Given the description of an element on the screen output the (x, y) to click on. 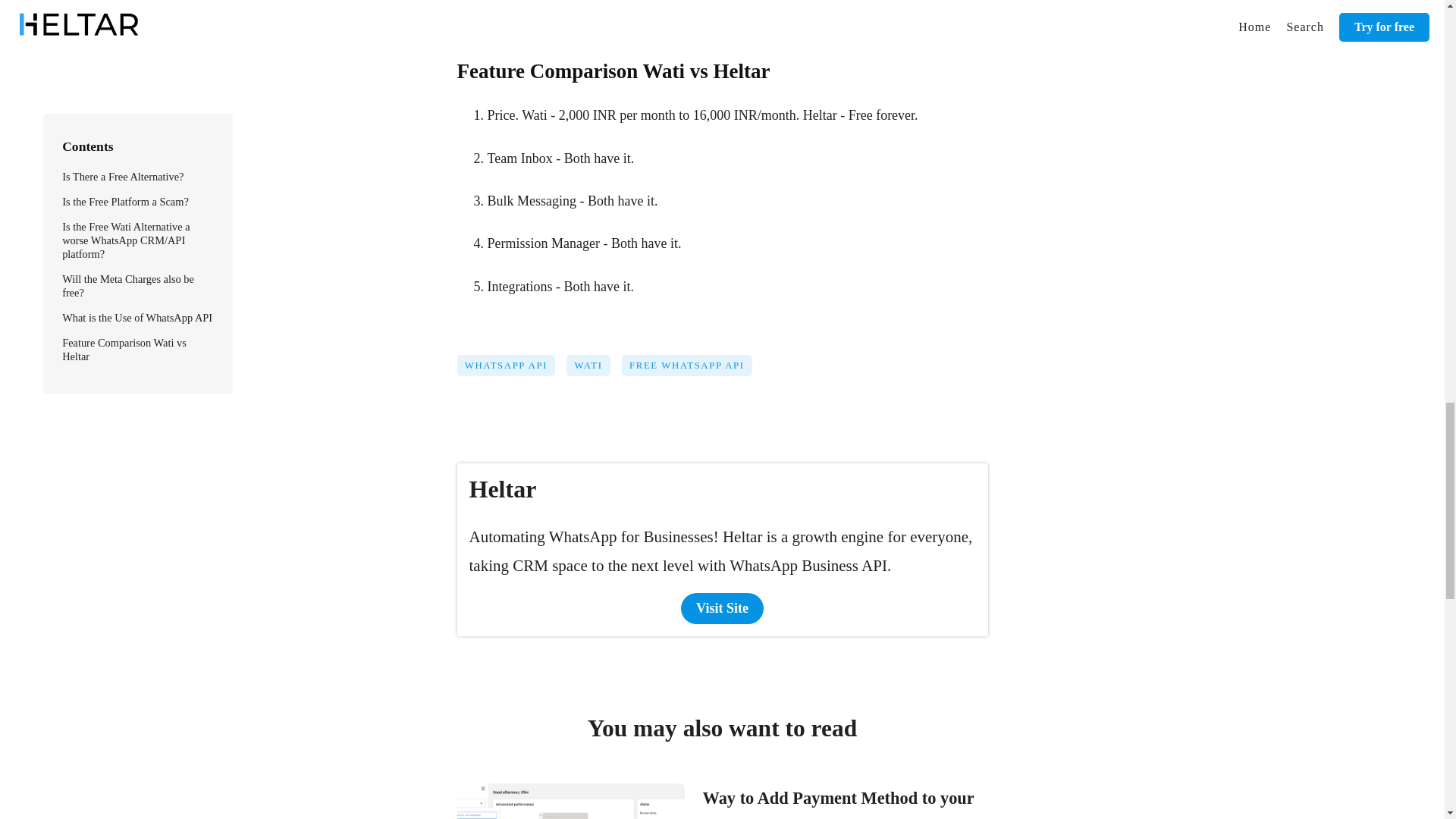
WATI (593, 370)
WHATSAPP API (511, 370)
FREE WHATSAPP API (691, 370)
Visit Site (721, 608)
